Given the description of an element on the screen output the (x, y) to click on. 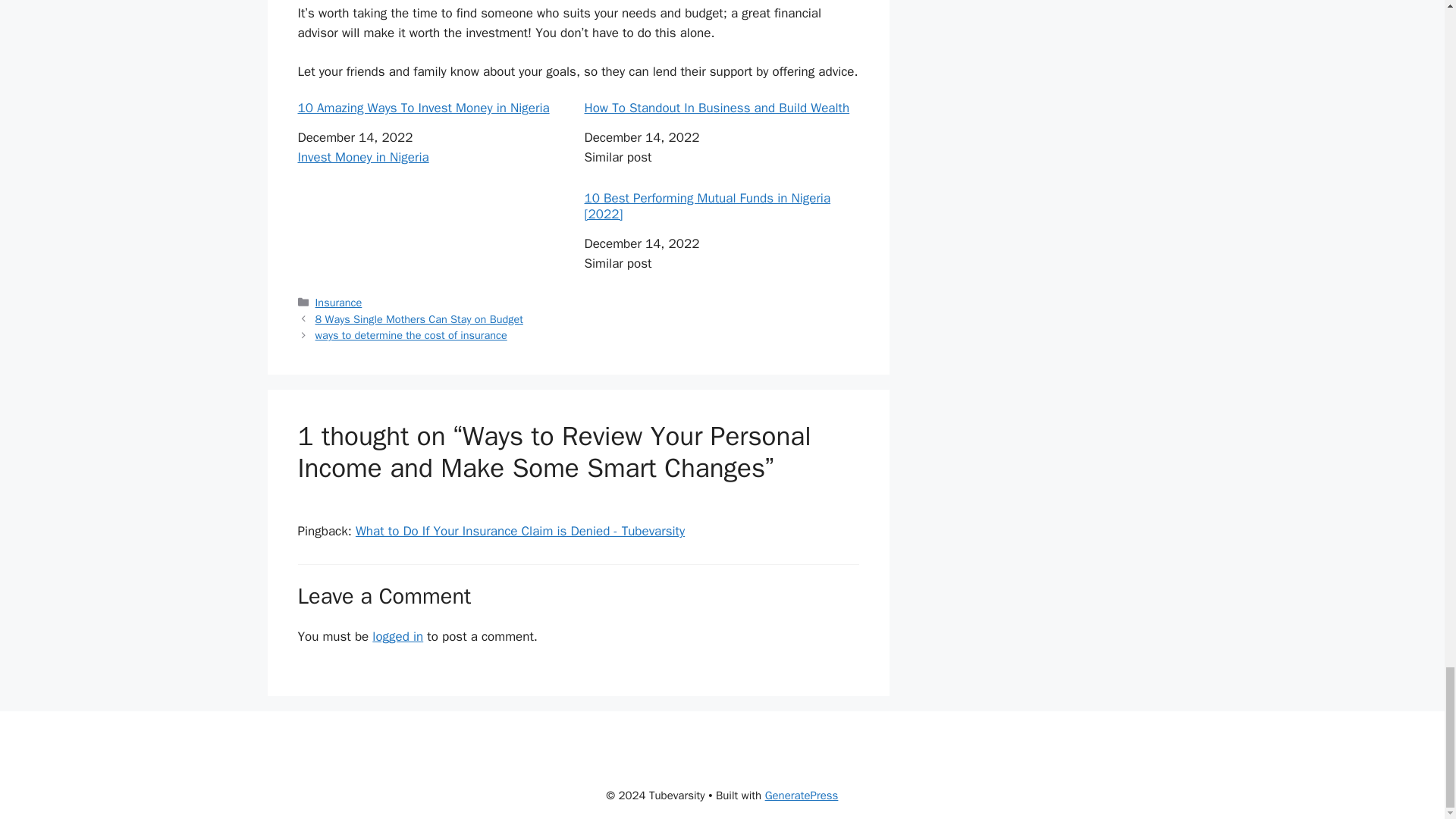
How To Standout In Business and Build Wealth (721, 108)
ways to determine the cost of insurance (410, 335)
What to Do If Your Insurance Claim is Denied - Tubevarsity (519, 530)
Invest Money in Nigeria (362, 157)
logged in (397, 636)
Insurance (338, 302)
GeneratePress (801, 795)
8 Ways Single Mothers Can Stay on Budget (418, 318)
10 Amazing Ways To Invest Money in Nigeria (434, 108)
